Given the description of an element on the screen output the (x, y) to click on. 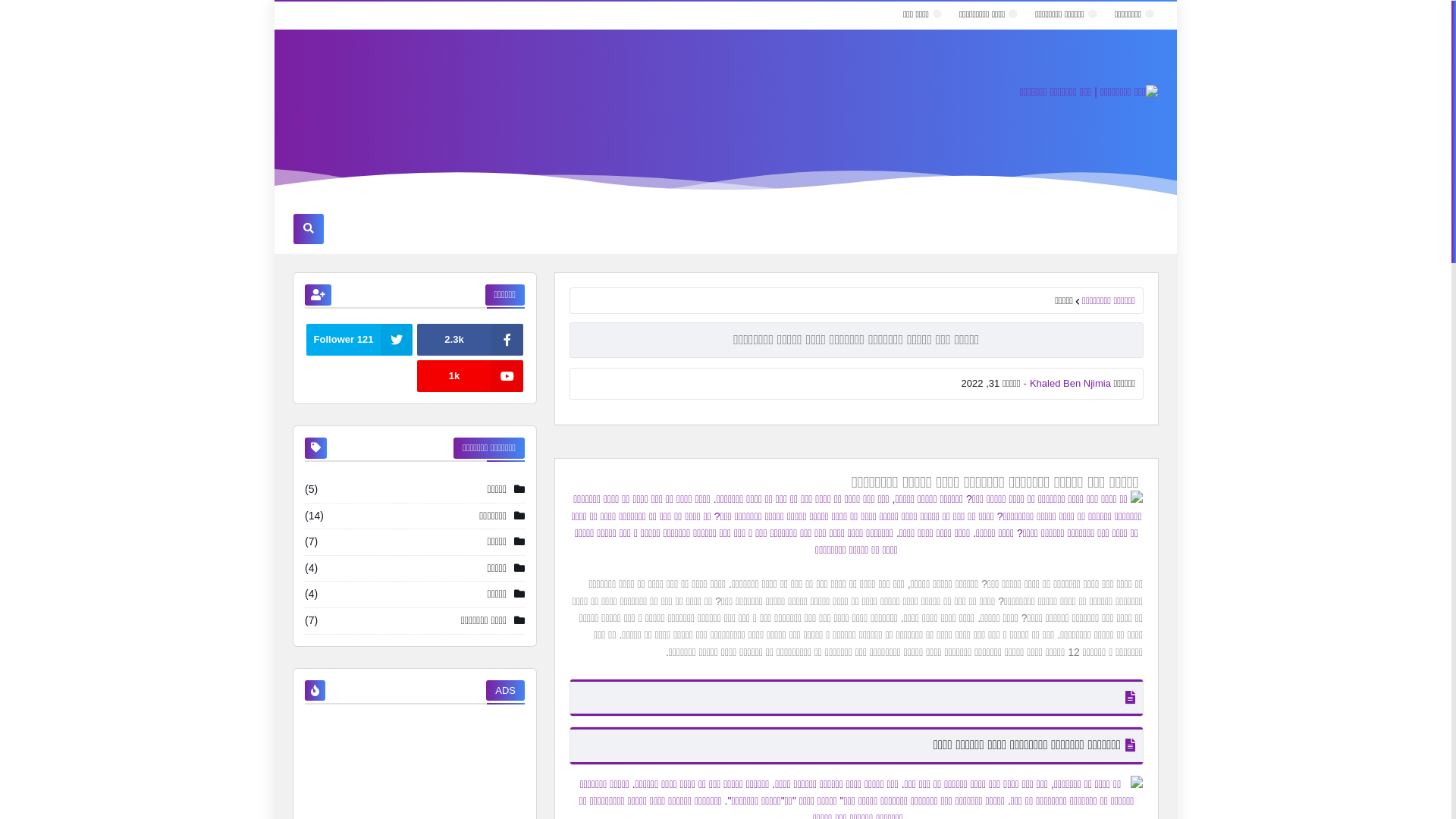
121 Follower Element type: text (359, 340)
1k Element type: text (470, 376)
2.3k Element type: text (470, 340)
